Given the description of an element on the screen output the (x, y) to click on. 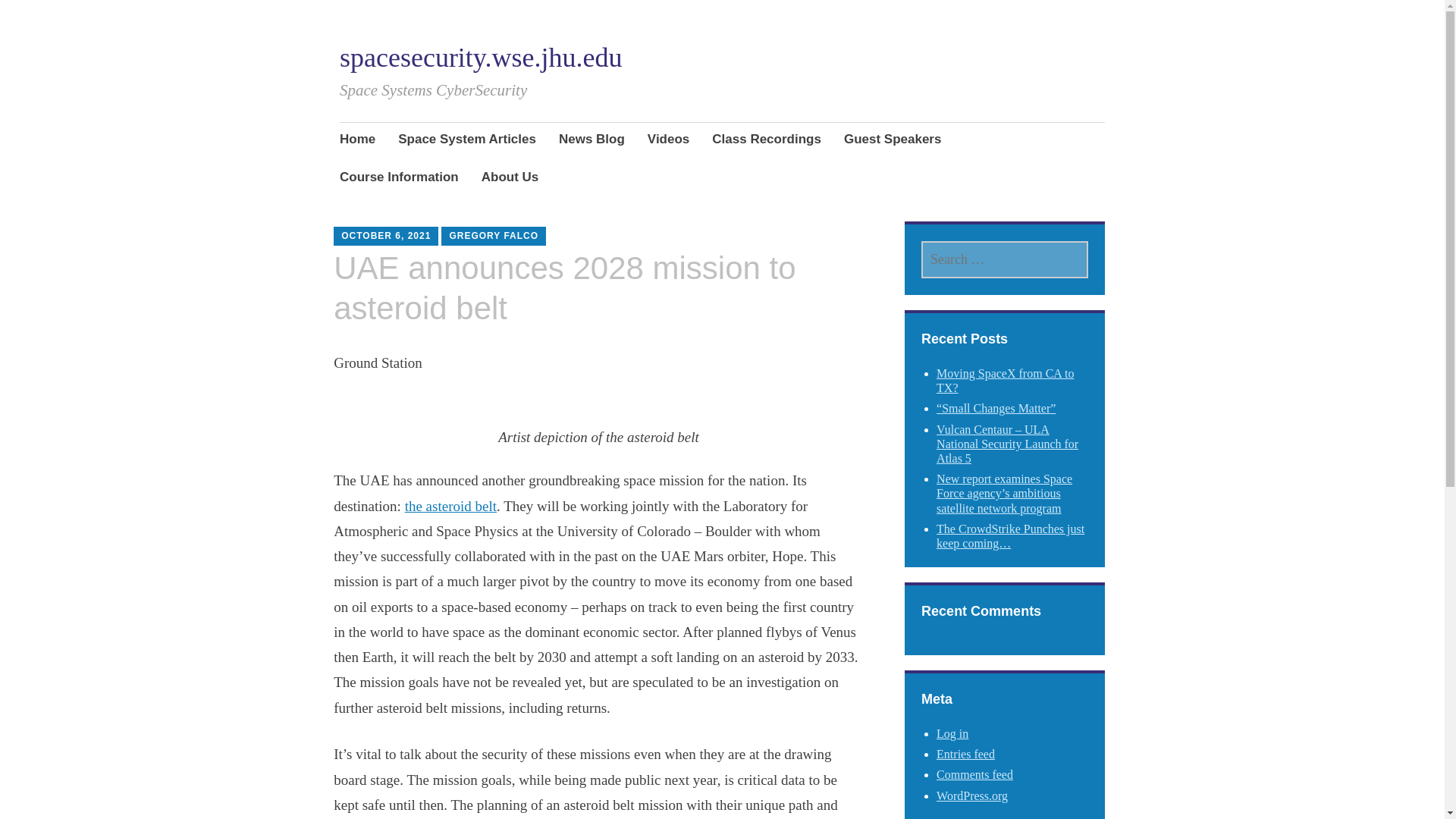
OCTOBER 6, 2021 (385, 235)
GREGORY FALCO (493, 235)
Moving SpaceX from CA to TX? (1005, 379)
About Us (509, 178)
Videos (667, 140)
Entries feed (965, 753)
Guest Speakers (893, 140)
Search (173, 17)
Home (357, 140)
Log in (952, 733)
the asteroid belt (450, 505)
Course Information (398, 178)
News Blog (591, 140)
Comments feed (974, 774)
Class Recordings (766, 140)
